Given the description of an element on the screen output the (x, y) to click on. 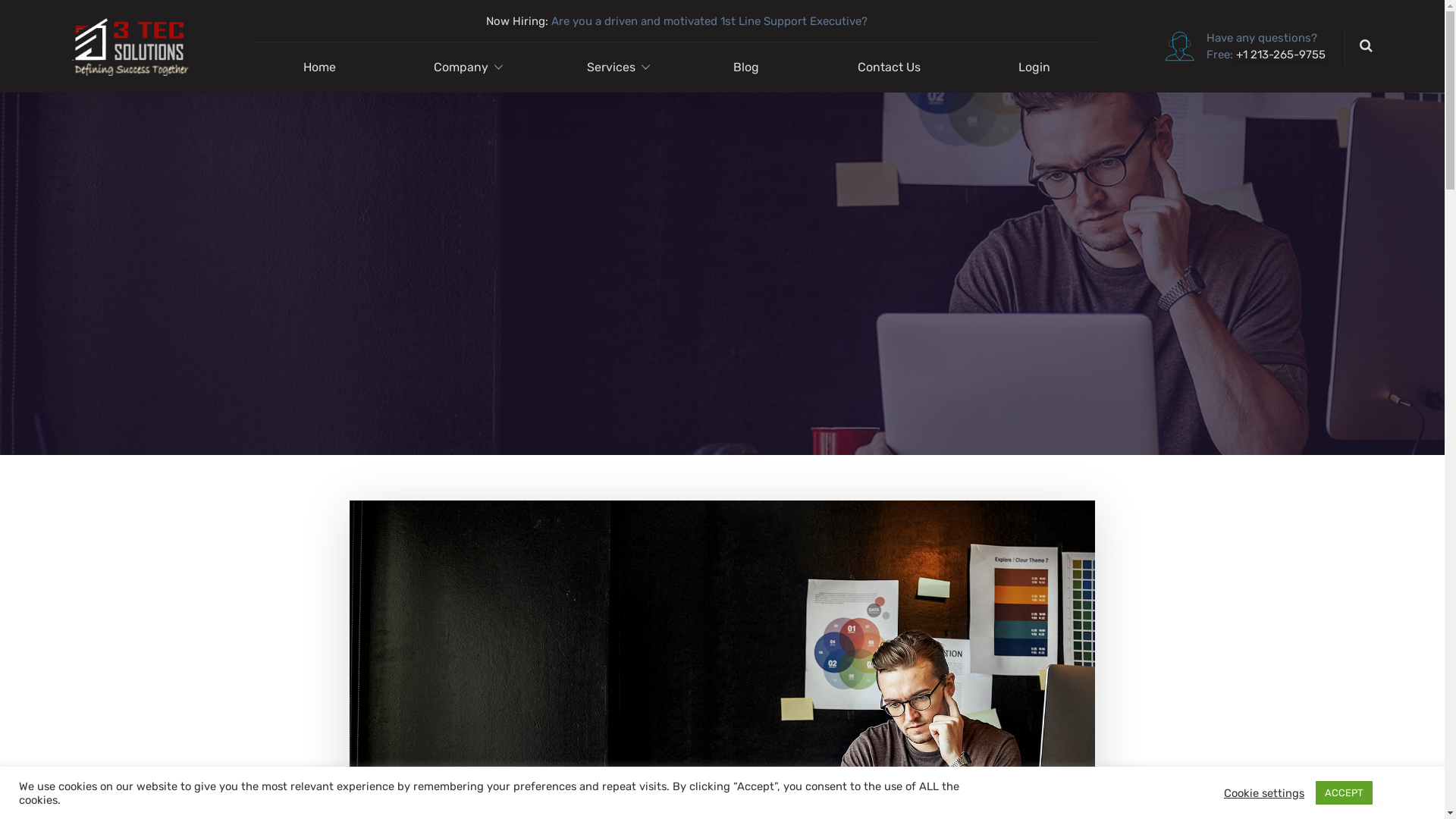
Home Element type: text (319, 67)
Search Element type: text (1335, 55)
Company Element type: text (460, 67)
Contact Us Element type: text (888, 67)
Login Element type: text (1034, 67)
Blog Element type: text (746, 67)
+1 213-265-9755 Element type: text (1280, 54)
Now Hiring: Element type: text (517, 21)
Search Element type: text (1364, 44)
ACCEPT Element type: text (1343, 792)
Cookie settings Element type: text (1263, 792)
Services Element type: text (610, 67)
